Given the description of an element on the screen output the (x, y) to click on. 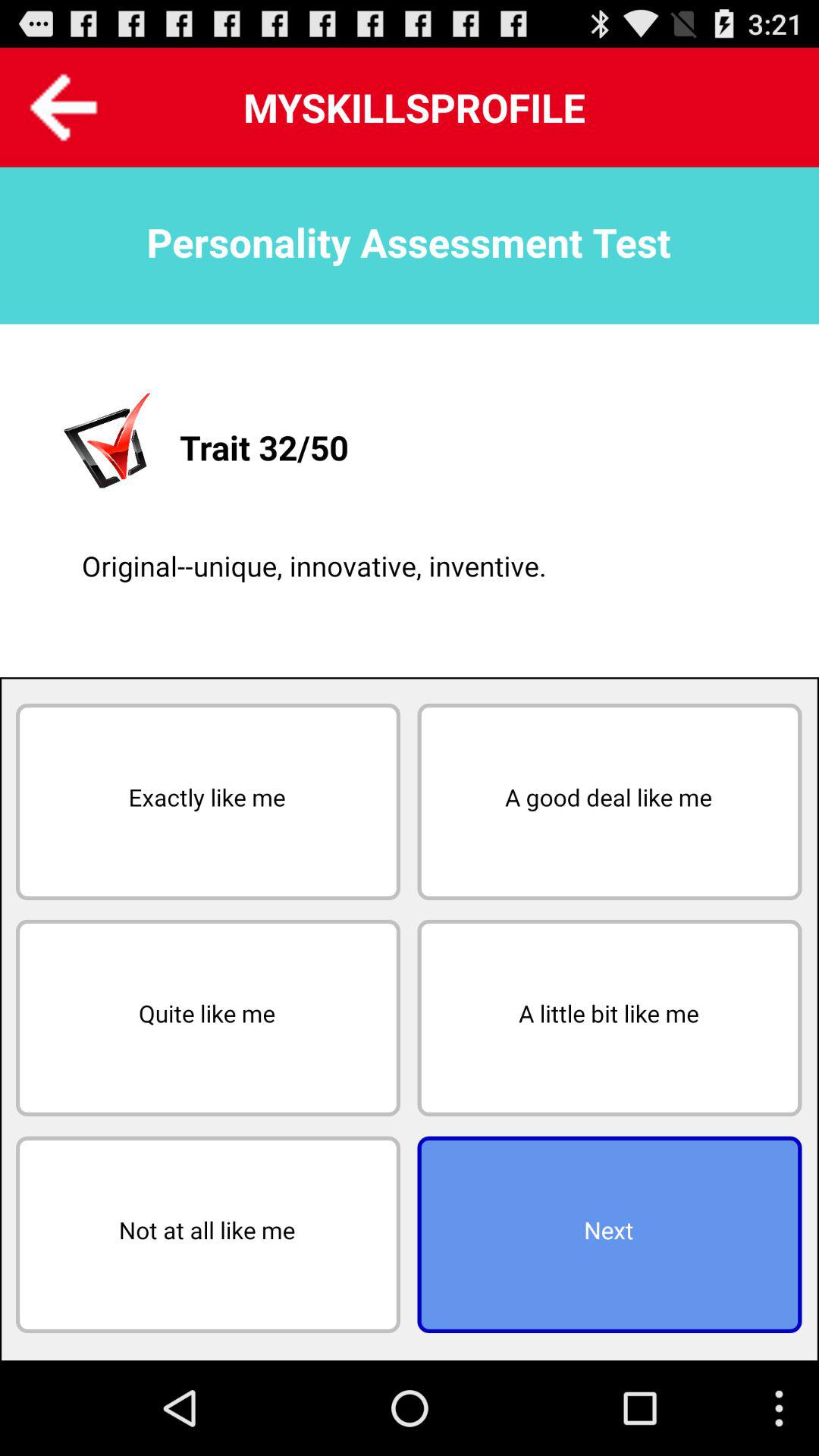
jump to the a good deal button (609, 801)
